Given the description of an element on the screen output the (x, y) to click on. 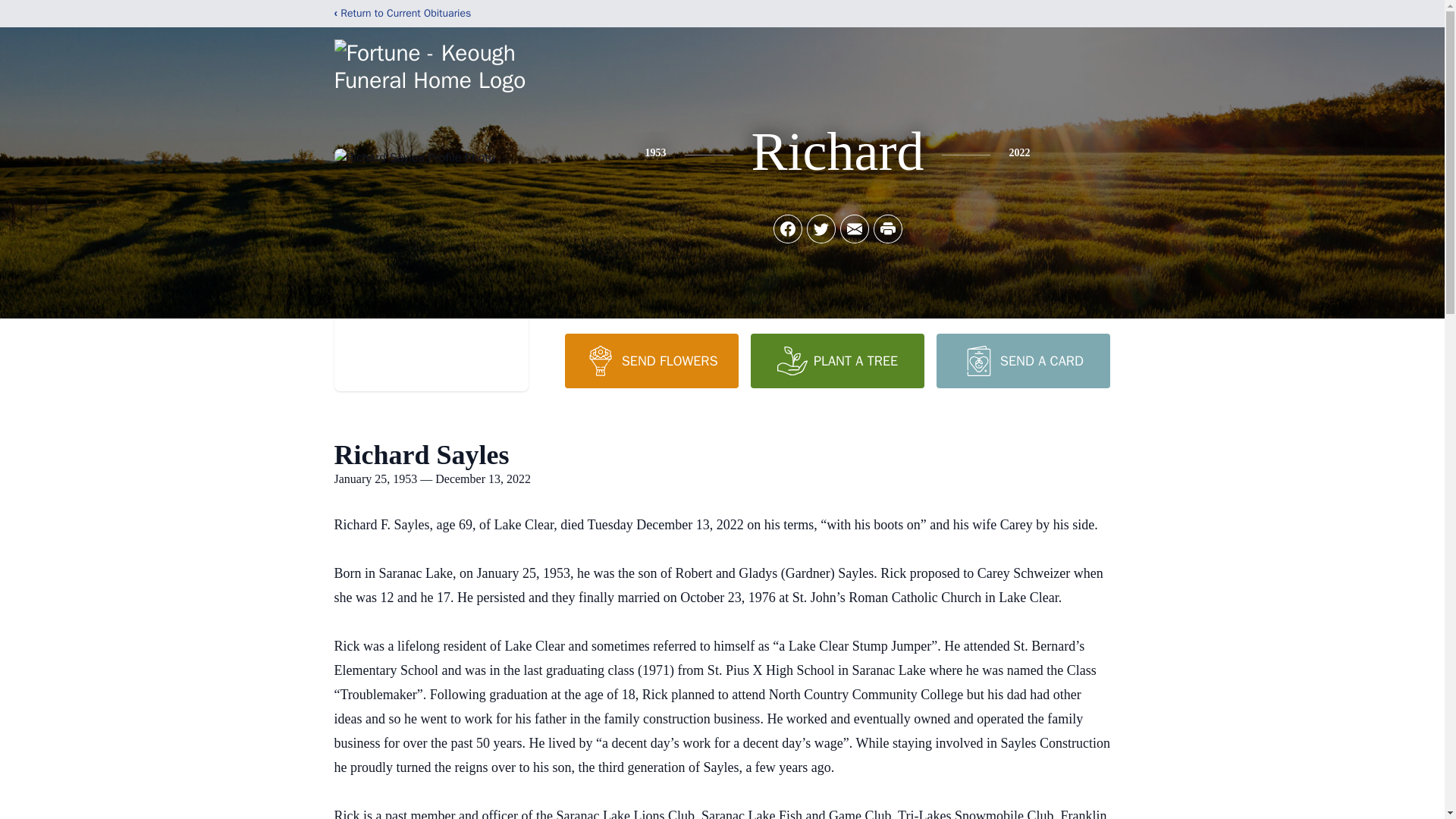
SEND A CARD (1022, 360)
SEND FLOWERS (651, 360)
PLANT A TREE (837, 360)
